Given the description of an element on the screen output the (x, y) to click on. 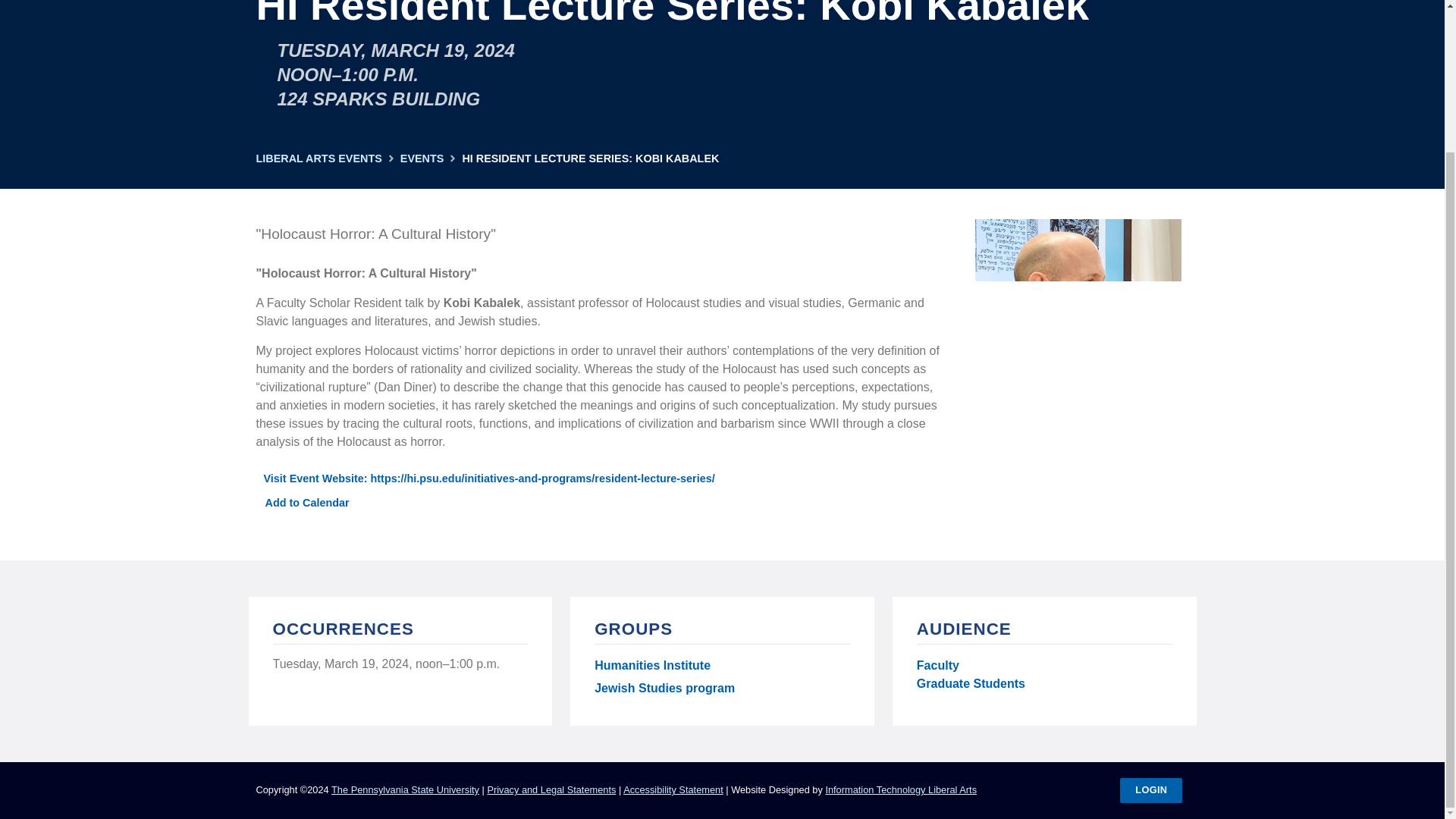
Add to Calendar (303, 502)
Jewish Studies program (664, 690)
Information Technology Liberal Arts (900, 789)
Faculty (938, 665)
Liberal Arts Events (318, 158)
LOGIN (1150, 790)
Humanities Institute (652, 668)
Accessibility Statement (673, 789)
Penn State home page. (405, 789)
LIBERAL ARTS EVENTS (318, 158)
Graduate Students (971, 683)
Privacy and Legal Statements (550, 789)
Events (422, 158)
The Pennsylvania State University (405, 789)
